Given the description of an element on the screen output the (x, y) to click on. 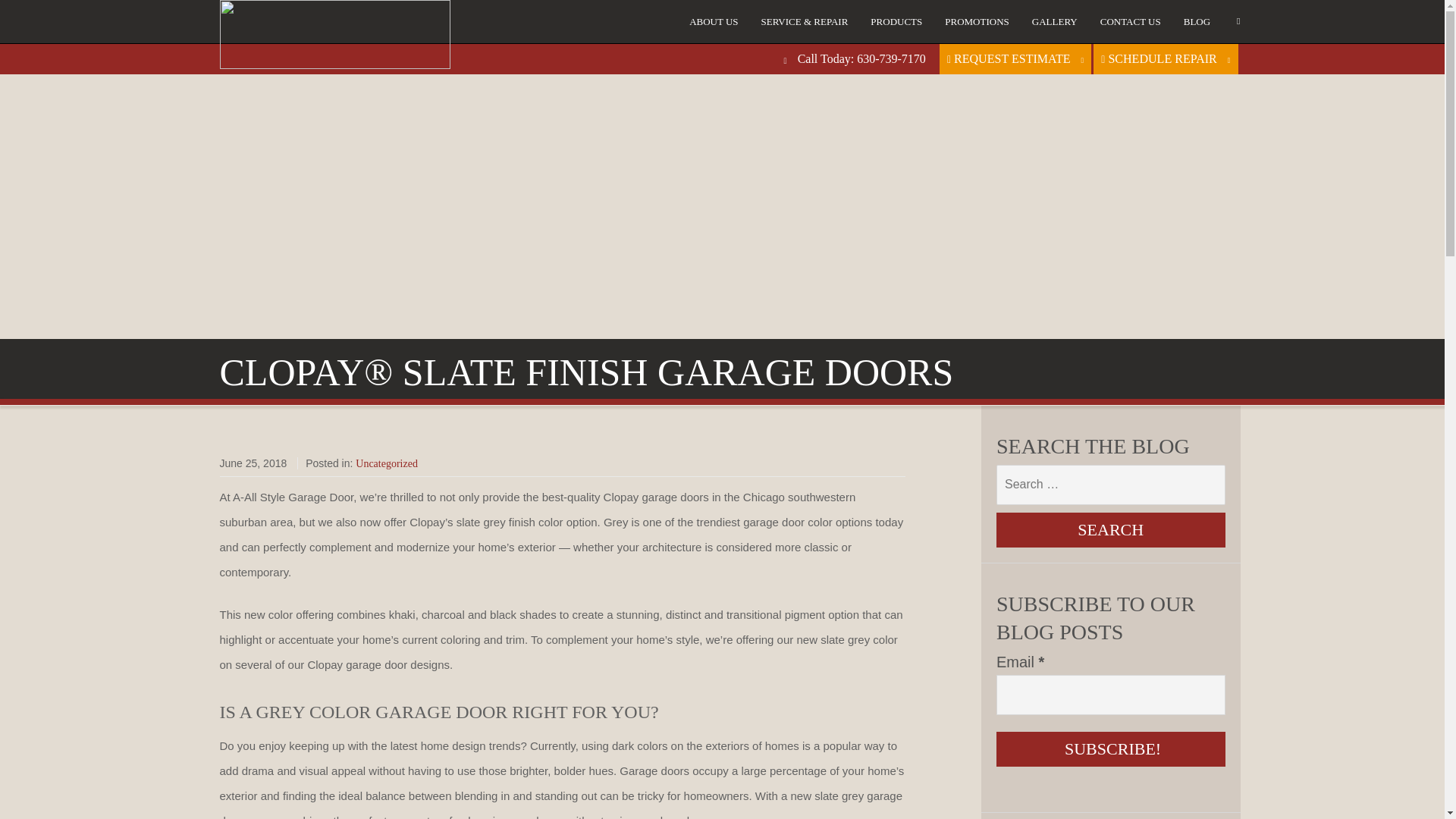
Search (1110, 529)
Email (1110, 694)
ABOUT US (713, 21)
View all posts in Uncategorized (386, 463)
PRODUCTS (896, 21)
Subscribe! (1110, 749)
Search (1110, 529)
